Given the description of an element on the screen output the (x, y) to click on. 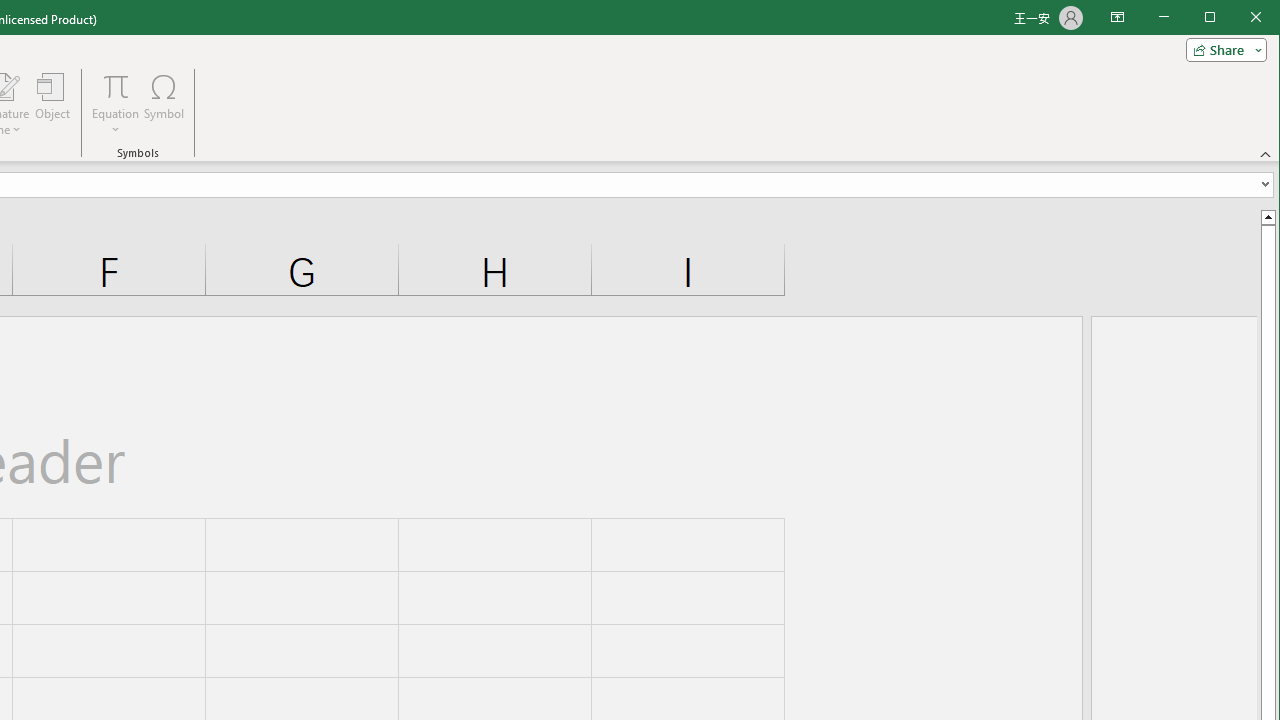
Maximize (1238, 18)
Equation (115, 86)
Equation (115, 104)
Object... (53, 104)
Symbol... (164, 104)
